Given the description of an element on the screen output the (x, y) to click on. 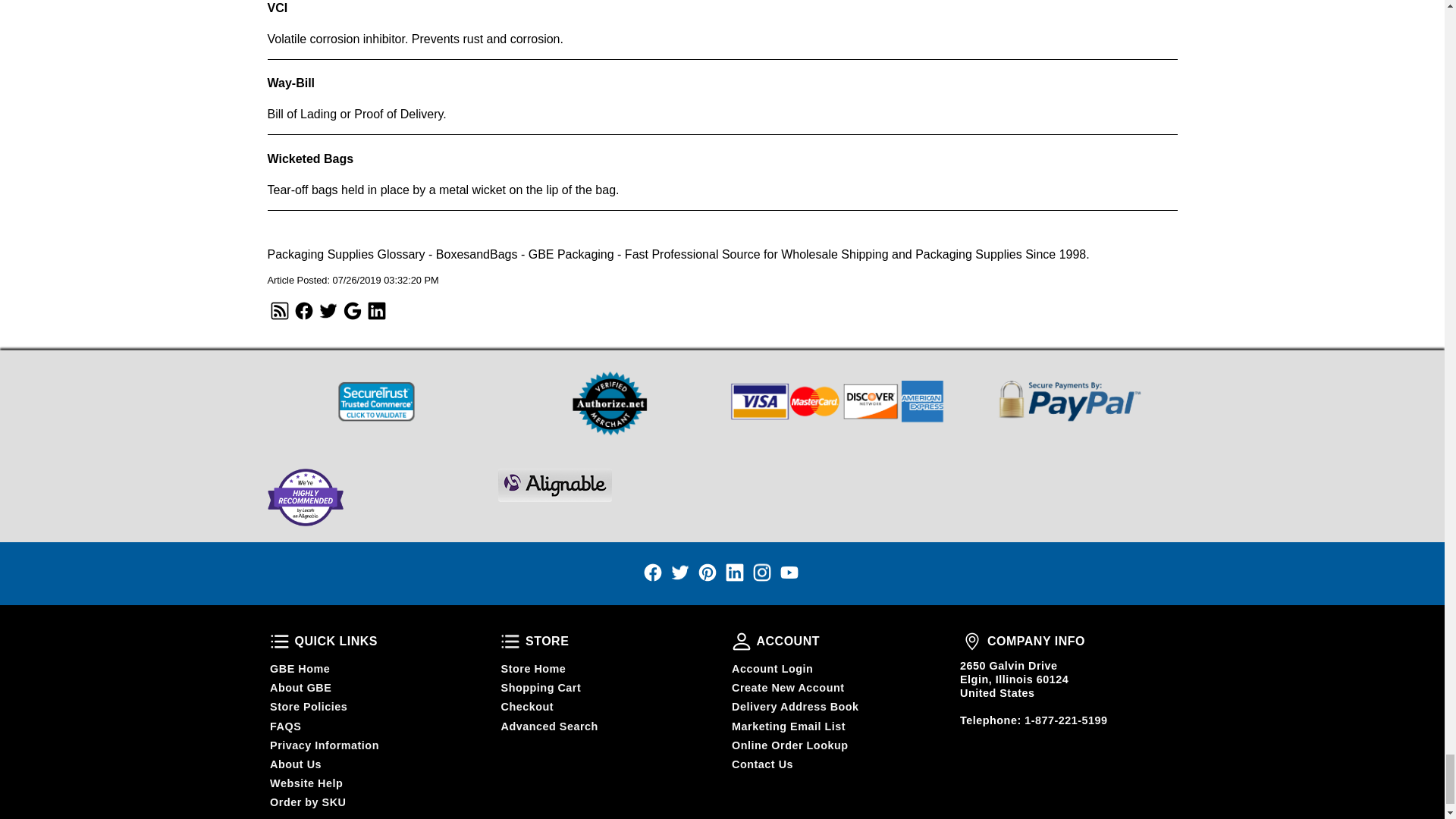
RSS Feed (376, 310)
RSS Feed (351, 310)
RSS Feed (327, 310)
RSS Feed (278, 310)
RSS Feed (303, 310)
